Given the description of an element on the screen output the (x, y) to click on. 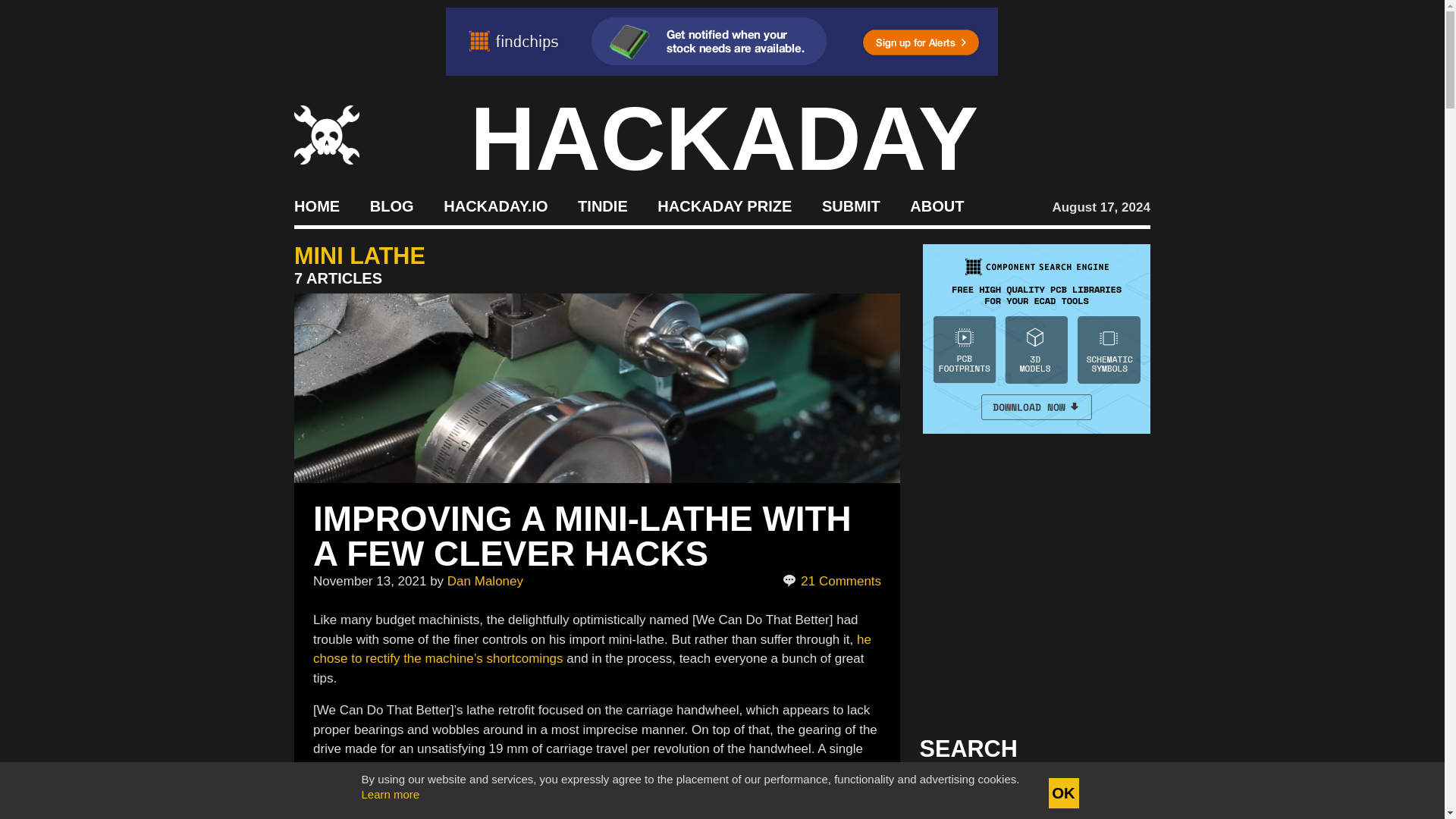
HACKADAY (724, 138)
Build Something that Matters (725, 205)
BLOG (391, 205)
November 13, 2021 (369, 581)
TINDIE (602, 205)
Posts by Dan Maloney (484, 581)
IMPROVING A MINI-LATHE WITH A FEW CLEVER HACKS (582, 535)
HACKADAY.IO (495, 205)
21 Comments (832, 581)
SUBMIT (851, 205)
